Given the description of an element on the screen output the (x, y) to click on. 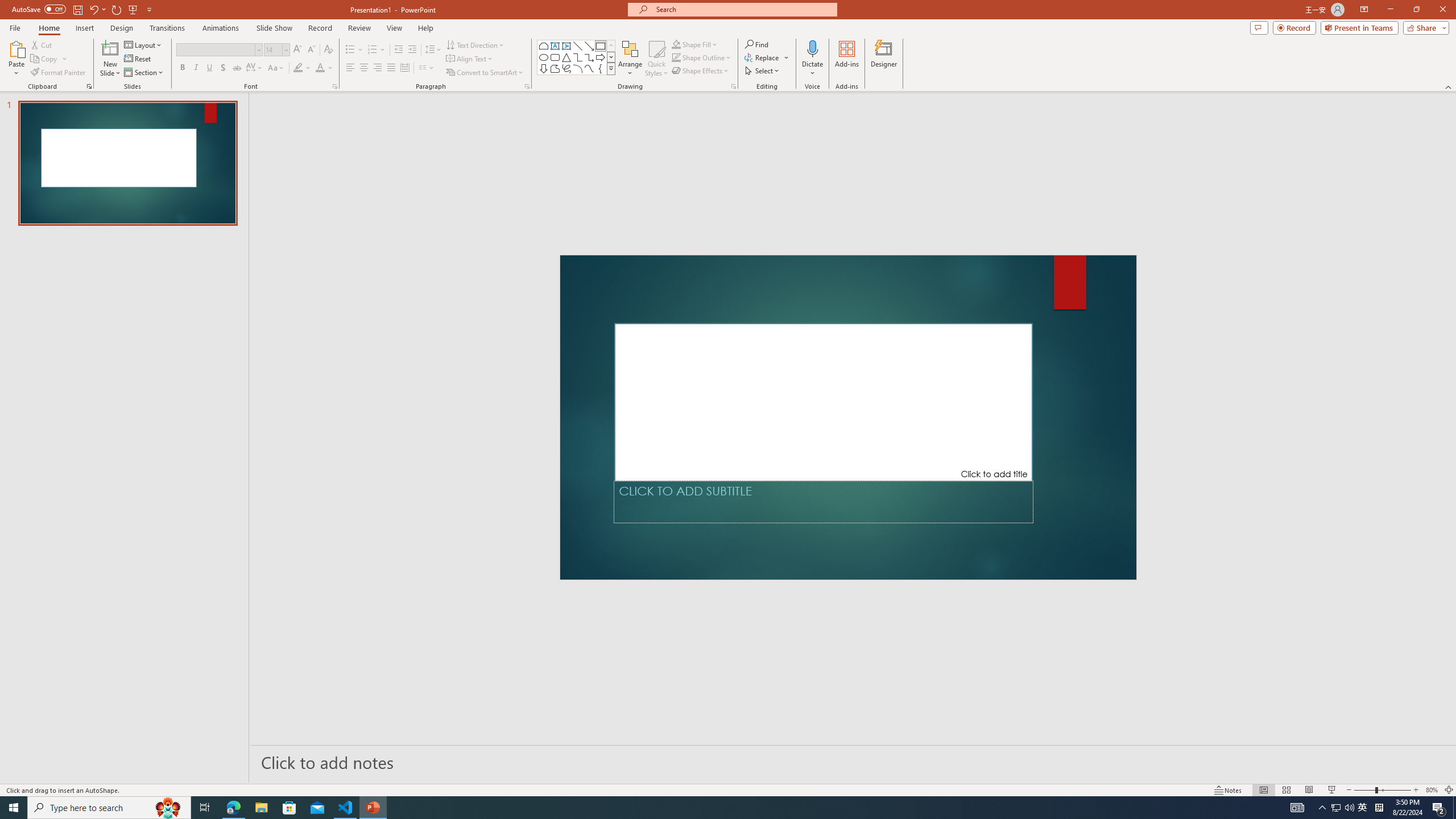
Subtitle TextBox (822, 501)
